Given the description of an element on the screen output the (x, y) to click on. 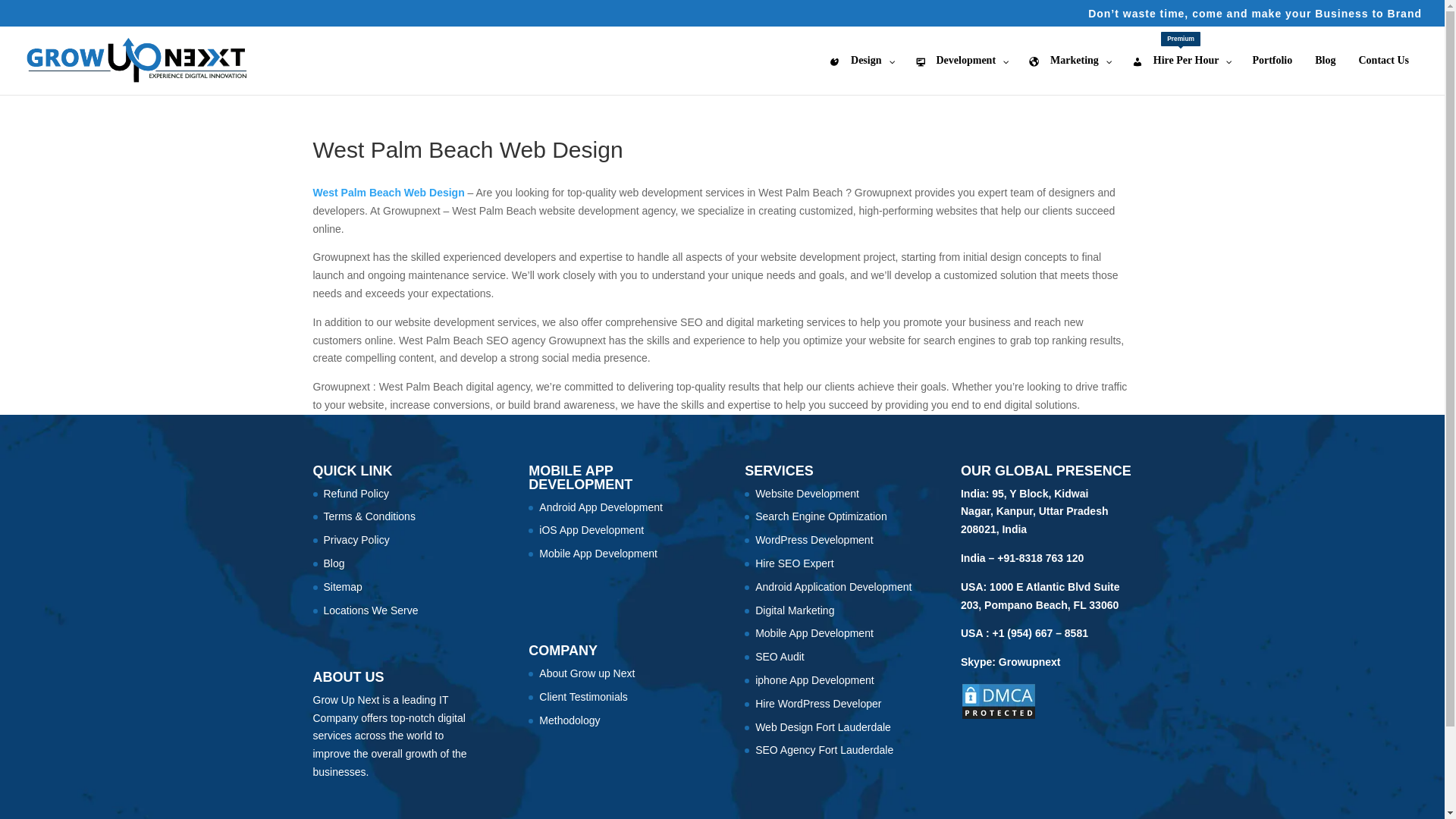
Marketing (1069, 74)
Design (1181, 74)
Development (860, 74)
